Given the description of an element on the screen output the (x, y) to click on. 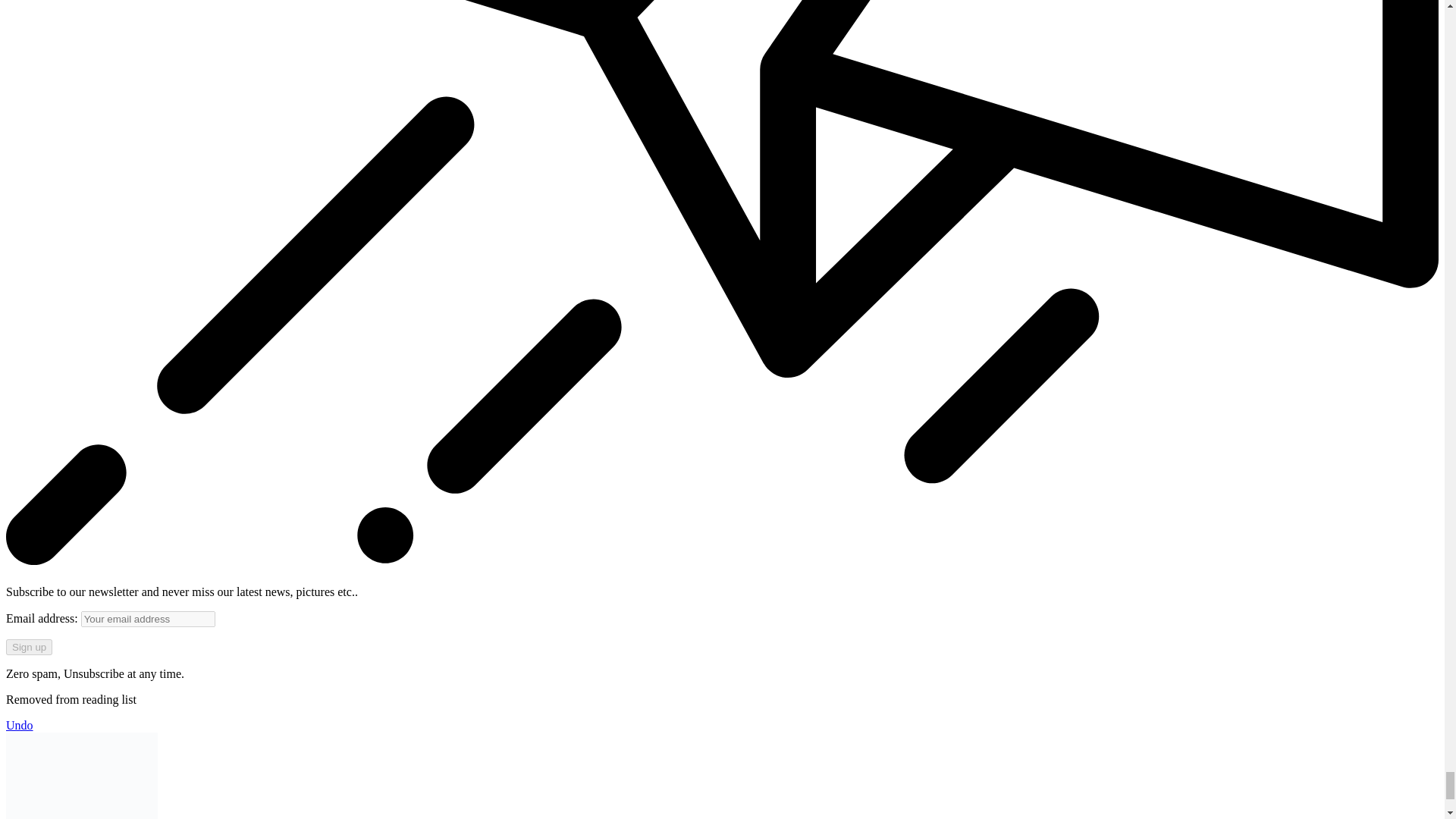
Sign up (28, 647)
